Given the description of an element on the screen output the (x, y) to click on. 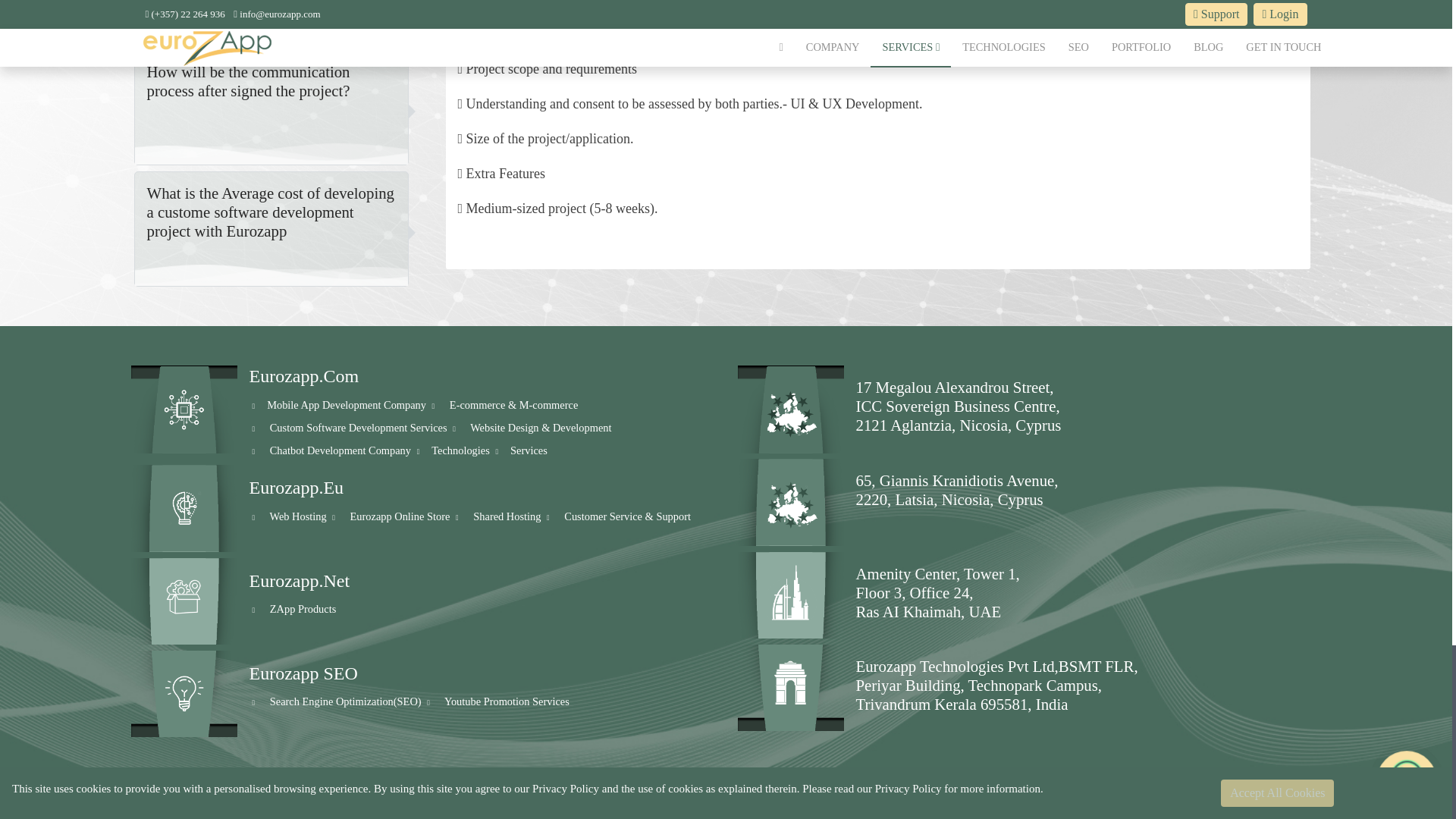
Mobile App Development Company (346, 404)
Custom Software Development Services (357, 427)
